Given the description of an element on the screen output the (x, y) to click on. 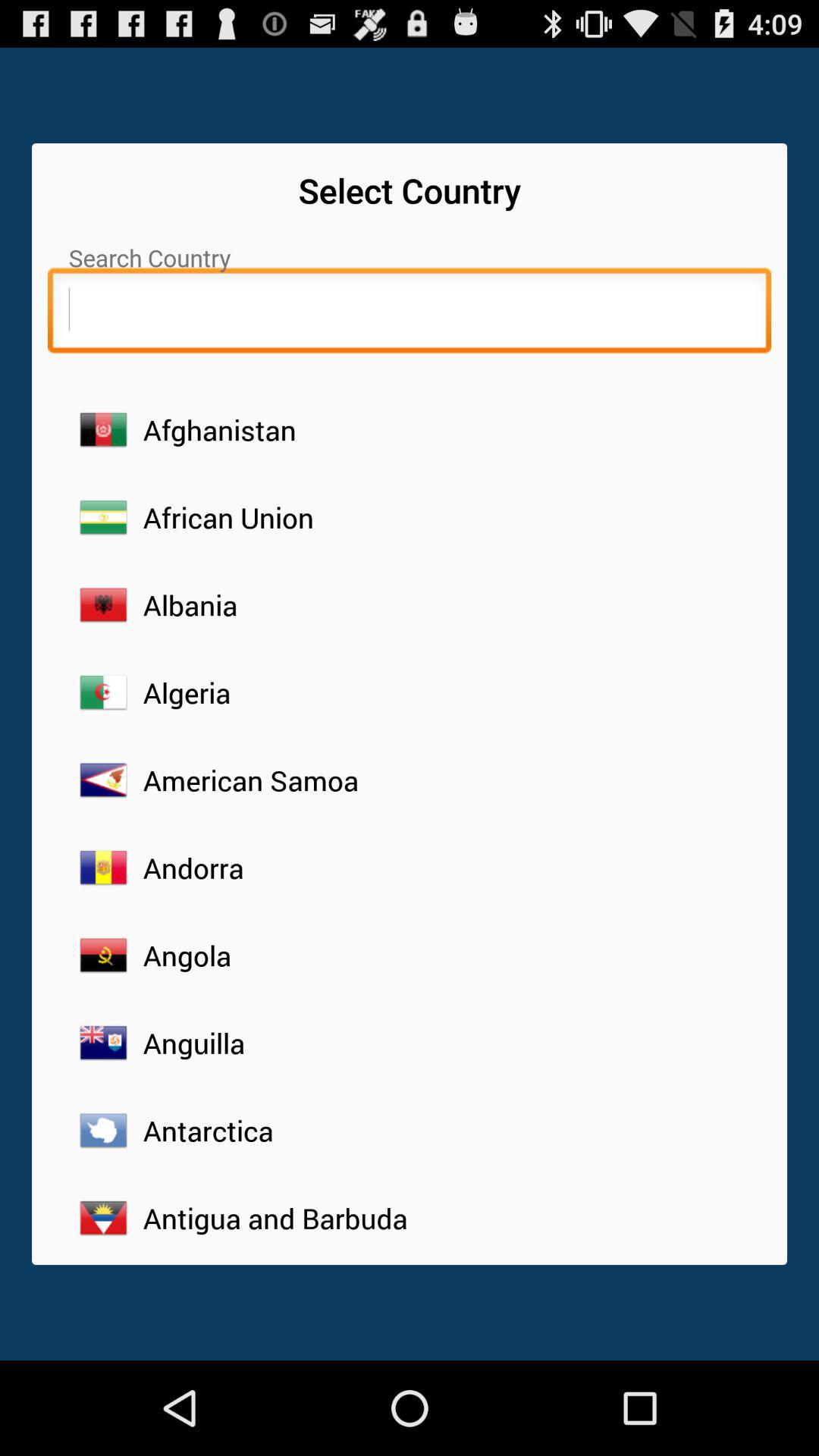
search (409, 314)
